Given the description of an element on the screen output the (x, y) to click on. 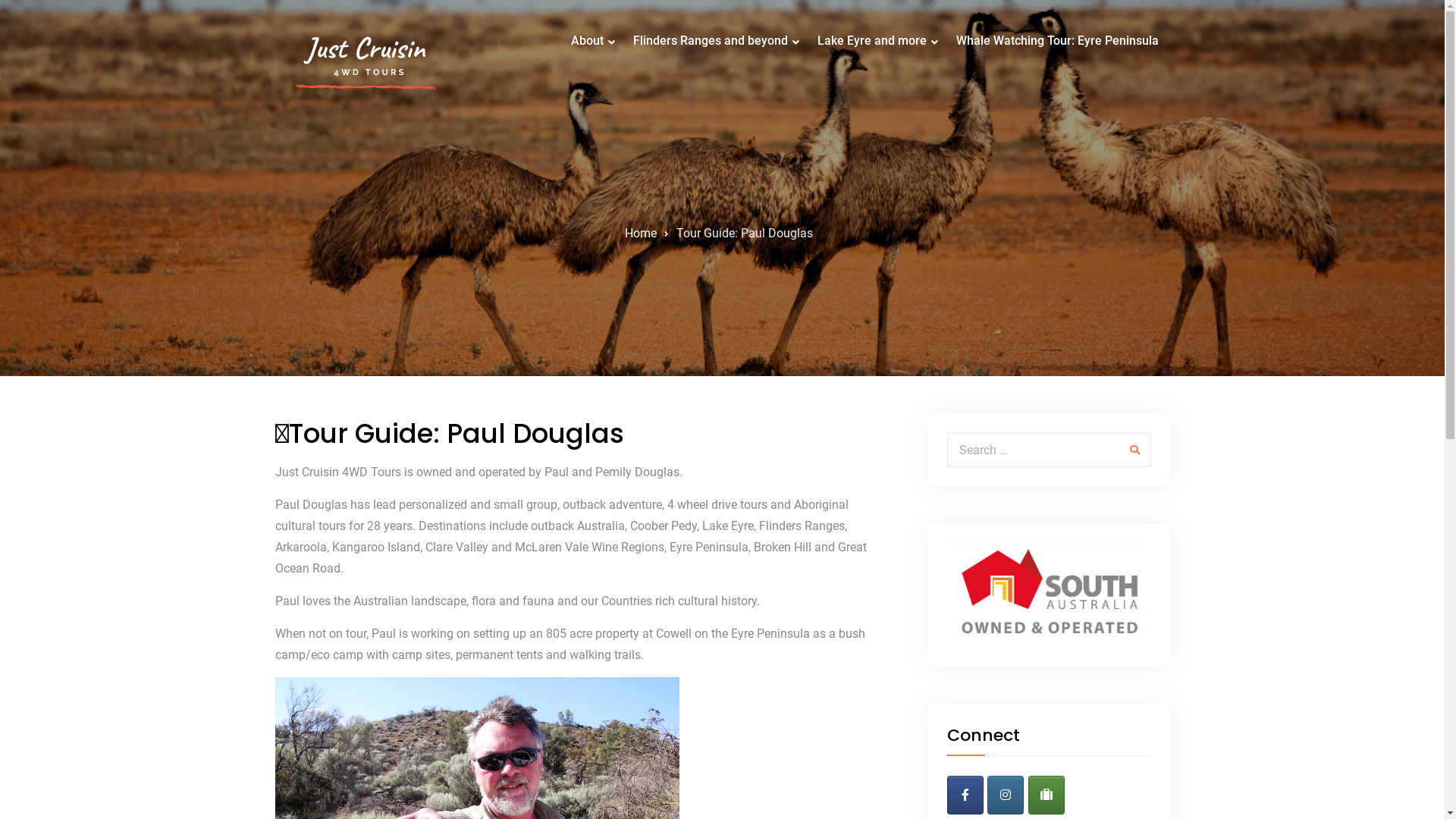
Just Cruisin 4WD tours on Facebook Element type: hover (964, 794)
Just Cruisin 4WD tours on Suitcase Element type: hover (1046, 794)
Whale Watching Tour: Eyre Peninsula Element type: text (1057, 40)
Lake Eyre and more Element type: text (873, 40)
Just Cruisin 4WD tours on Instagram Element type: hover (1005, 794)
About Element type: text (588, 40)
Home Element type: text (640, 232)
Flinders Ranges and beyond Element type: text (712, 40)
